Given the description of an element on the screen output the (x, y) to click on. 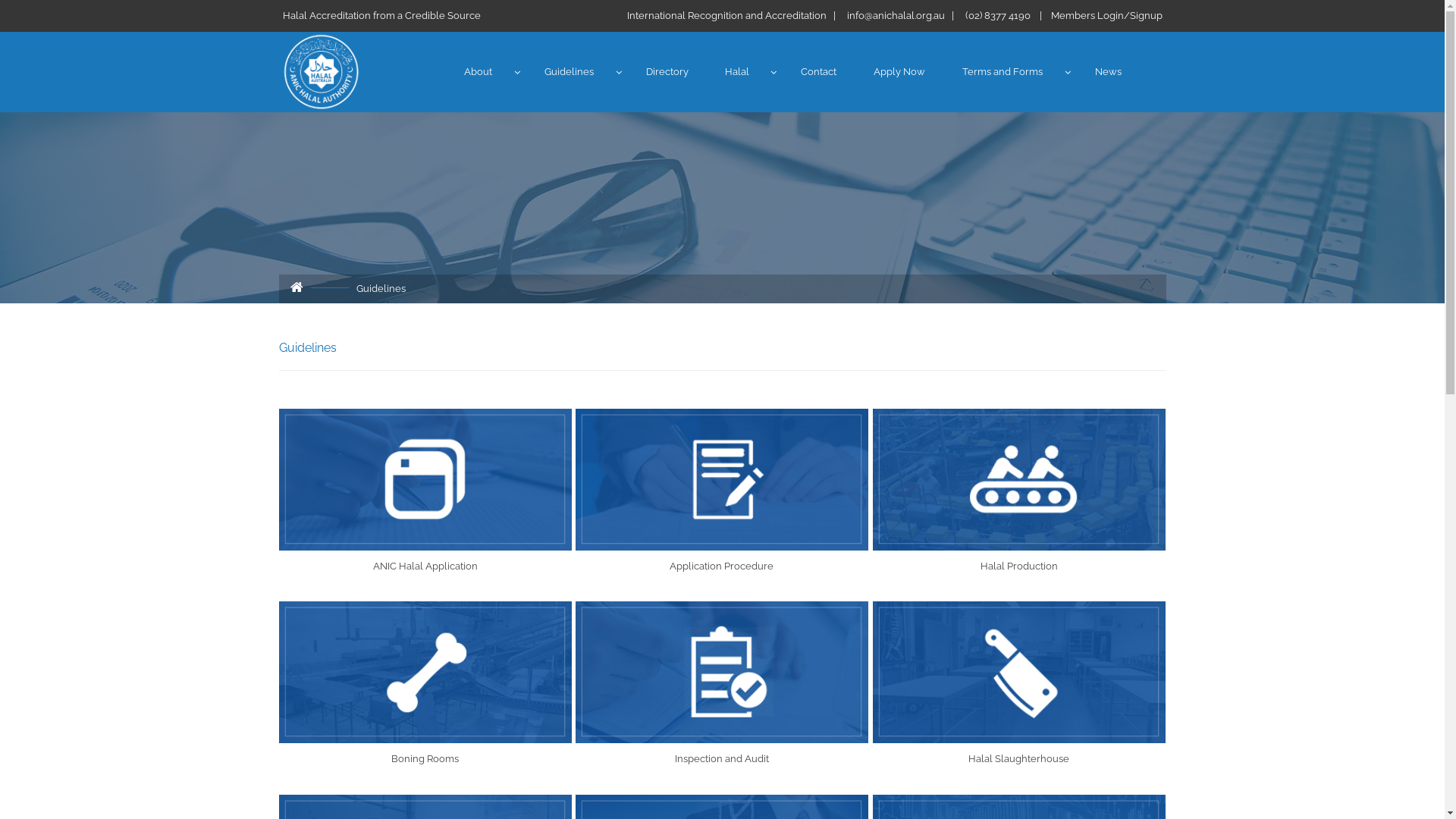
(02) 8377 4190 Element type: text (996, 15)
Halal Production Element type: text (1018, 565)
Inspection and Audit Element type: text (721, 758)
Apply Now Element type: text (899, 71)
Application Procedure Element type: text (721, 565)
Halal Production Element type: hover (1018, 479)
info@anichalal.org.au Element type: text (895, 15)
Halal Slaughterhouse Element type: text (1018, 758)
Terms and Forms Element type: text (1002, 71)
Boning Rooms Element type: text (424, 758)
International Recognition and Accreditation Element type: text (725, 15)
ANIC Halal Application Element type: hover (425, 479)
Inspection and Audit Element type: hover (721, 672)
News Element type: text (1108, 71)
Guidelines Element type: text (569, 71)
ANIC Halal Application Element type: text (425, 565)
About Element type: text (477, 71)
Contact Element type: text (818, 71)
Halal Element type: text (736, 71)
Directory Element type: text (667, 71)
Application Procedure Element type: hover (721, 479)
Halal Slaughterhouse Element type: hover (1018, 672)
Boning Rooms Element type: hover (425, 672)
Members Login/Signup Element type: text (1106, 15)
